Given the description of an element on the screen output the (x, y) to click on. 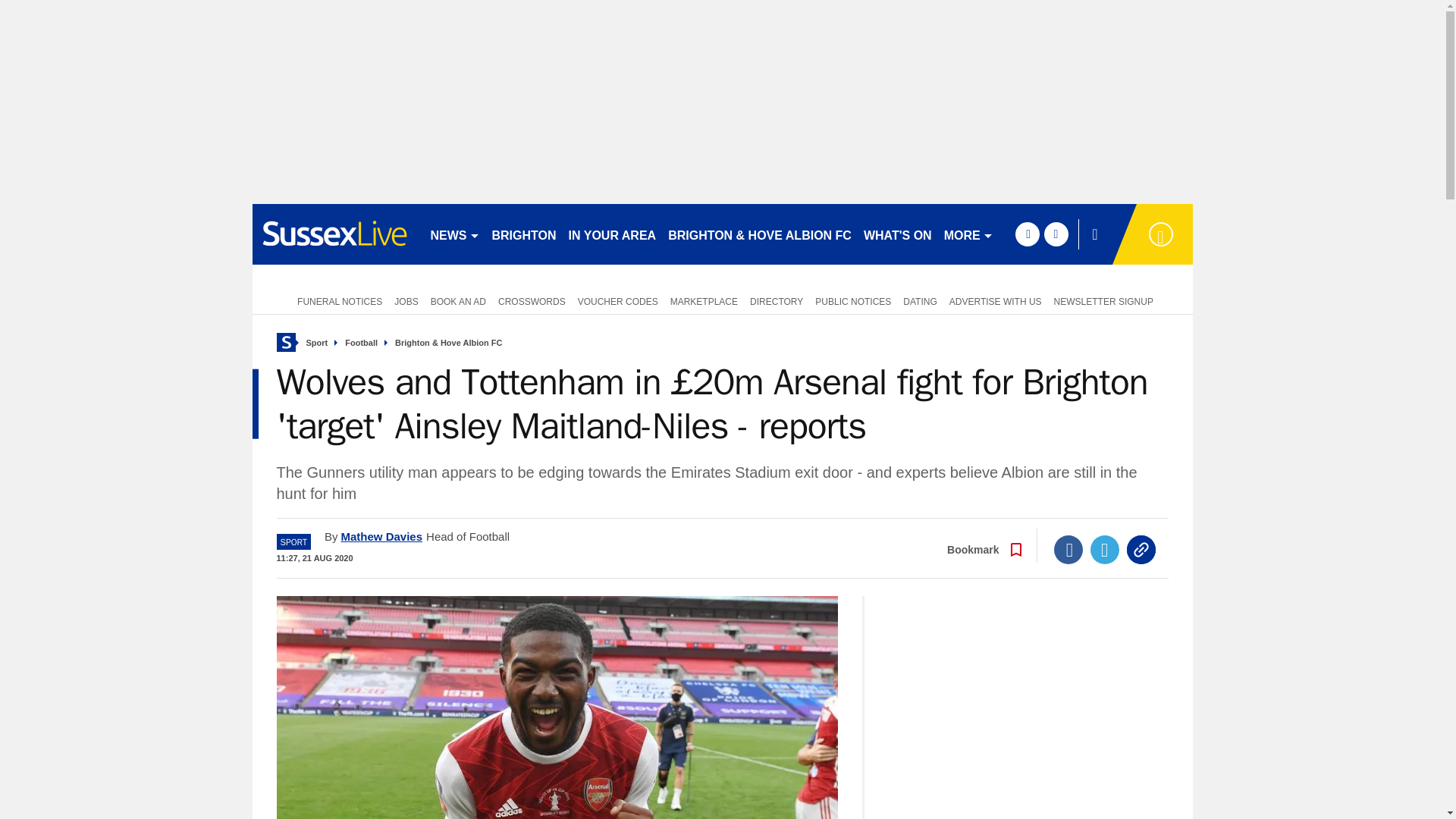
Twitter (1104, 549)
DIRECTORY (776, 300)
BRIGHTON (523, 233)
JOBS (405, 300)
NEWS (455, 233)
CROSSWORDS (532, 300)
sussexlive (333, 233)
Facebook (1068, 549)
MARKETPLACE (703, 300)
MORE (967, 233)
IN YOUR AREA (612, 233)
twitter (1055, 233)
WHAT'S ON (897, 233)
facebook (1026, 233)
PUBLIC NOTICES (852, 300)
